Given the description of an element on the screen output the (x, y) to click on. 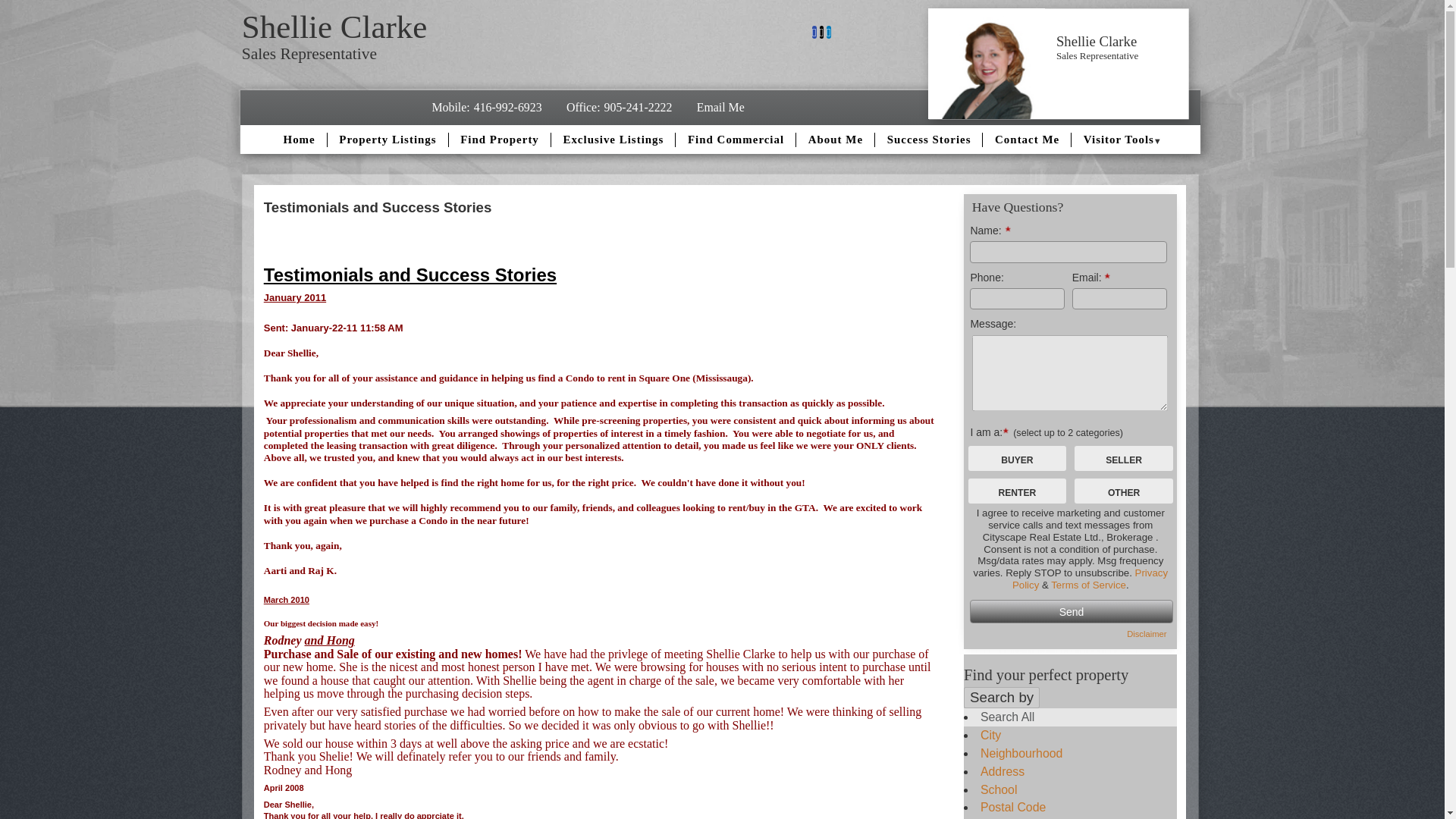
Property Listings (389, 139)
City (990, 735)
Terms of Service (1088, 584)
Home (301, 139)
Find Commercial (737, 139)
Success Stories (930, 139)
Our biggest decision made easy! (320, 623)
About Me (837, 139)
About Me (837, 139)
Privacy Policy (1089, 578)
Exclusive Listings (614, 139)
905-241-2222 (638, 106)
Find Property (501, 139)
Search by (1001, 697)
Home (301, 139)
